Given the description of an element on the screen output the (x, y) to click on. 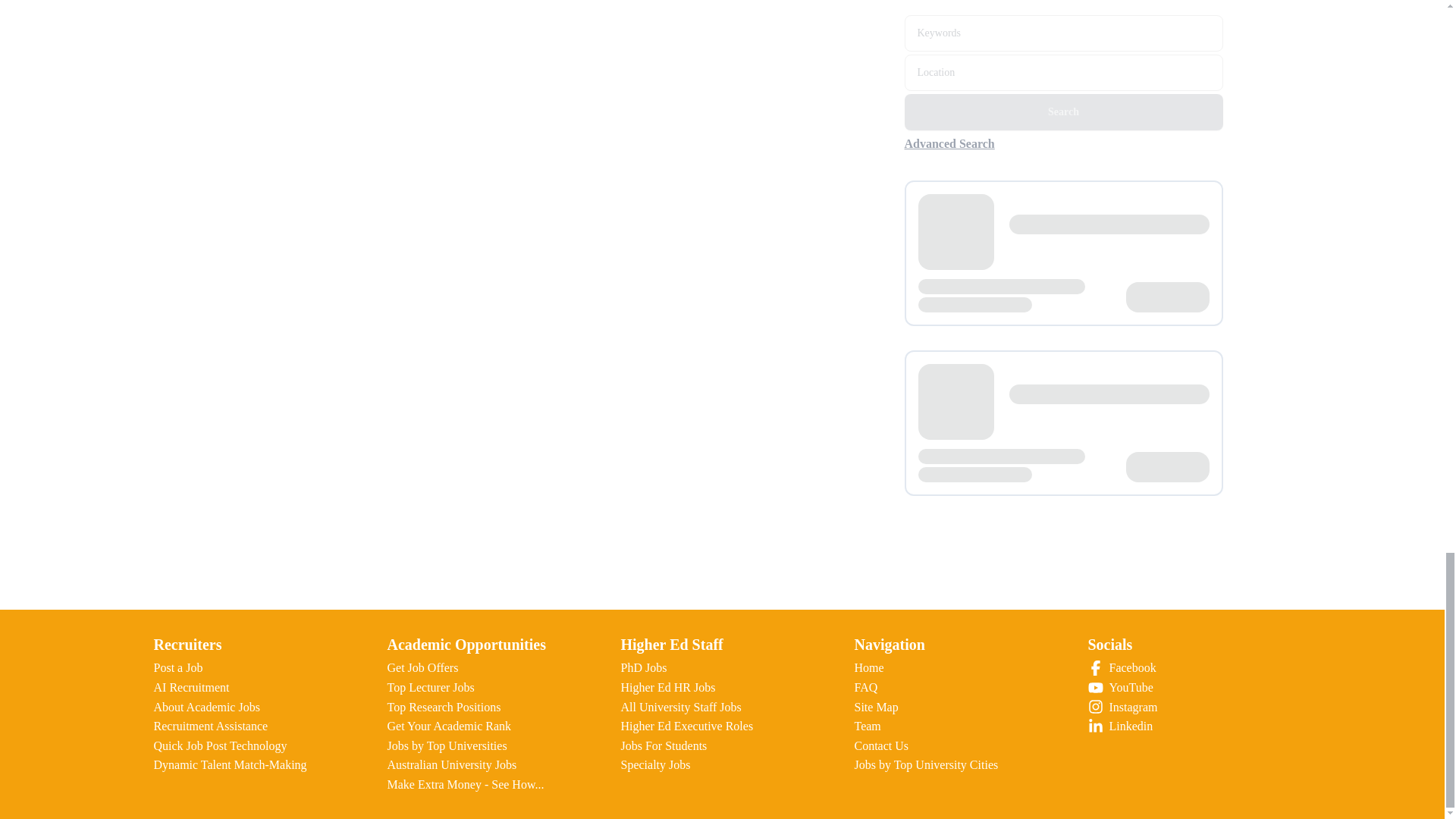
Post a Job (177, 667)
Home (868, 667)
Australian University Jobs (451, 764)
Contact Us (880, 745)
AI Recruitment (190, 686)
Get Job Offers (422, 667)
Top Lecturer Jobs (430, 686)
Make Extra Money - See How... (465, 784)
Jobs For Students (663, 745)
Specialty Jobs (655, 764)
About Academic Jobs (205, 707)
Jobs by Top Universities (446, 745)
Top Research Positions (443, 707)
Get Your Academic Rank (449, 725)
Facebook (1188, 668)
